Given the description of an element on the screen output the (x, y) to click on. 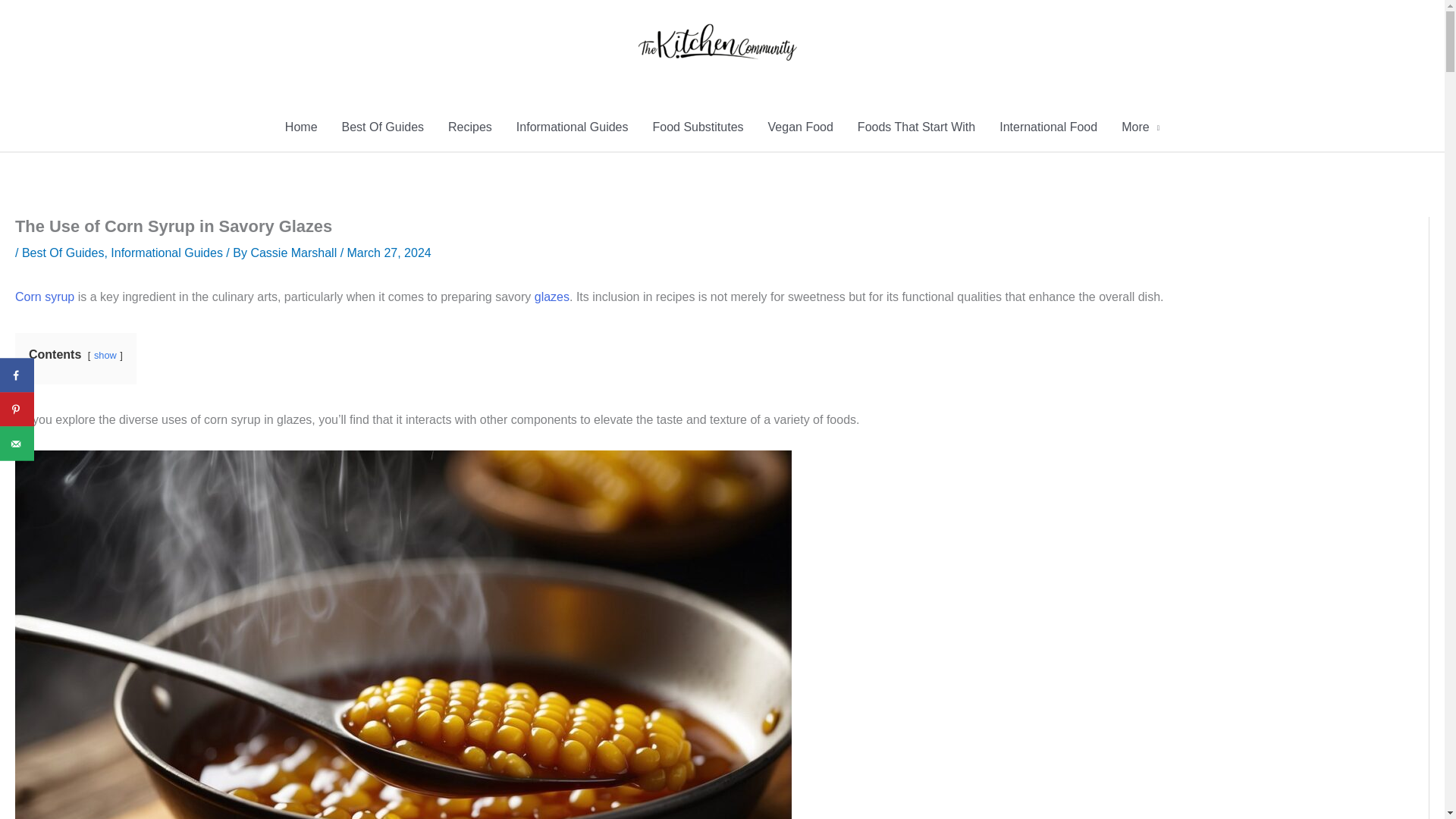
Cassie Marshall (294, 252)
Informational Guides (571, 127)
Vegan Food (800, 127)
glazes (551, 296)
View all posts by Cassie Marshall (294, 252)
show (105, 355)
Corn syrup (44, 296)
International Food (1048, 127)
Foods That Start With (916, 127)
Best Of Guides (62, 252)
Informational Guides (166, 252)
Home (301, 127)
Best Of Guides (383, 127)
Food Substitutes (697, 127)
More (1140, 127)
